Given the description of an element on the screen output the (x, y) to click on. 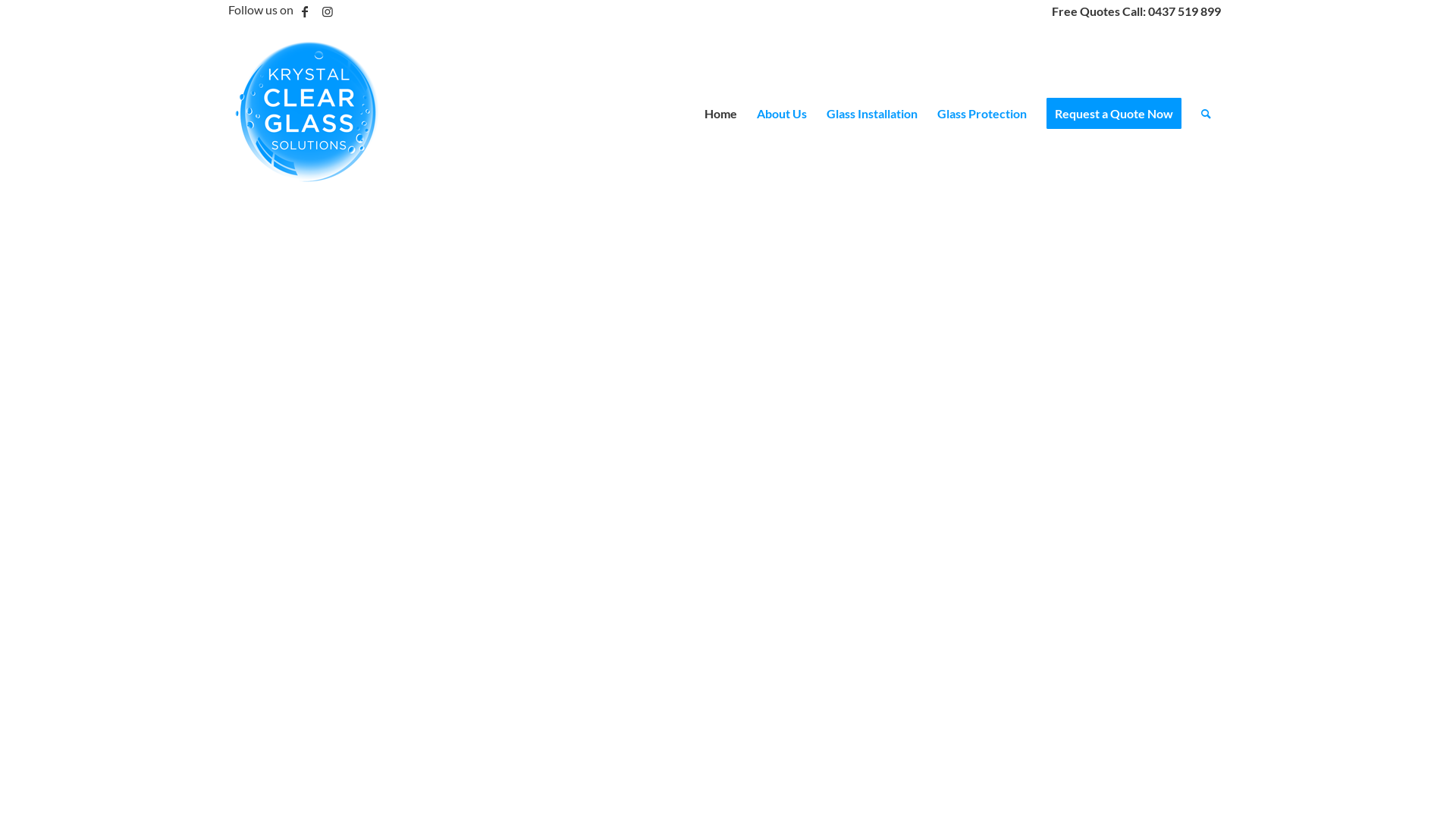
Facebook Element type: hover (304, 11)
Instagram Element type: hover (327, 11)
0437 519 899 Element type: text (1184, 10)
Home Element type: text (720, 113)
Glass Protection Element type: text (981, 113)
About Us Element type: text (781, 113)
Glass Installation Element type: text (871, 113)
logo-home Element type: hover (308, 113)
Request a Quote Now Element type: text (1113, 113)
